Given the description of an element on the screen output the (x, y) to click on. 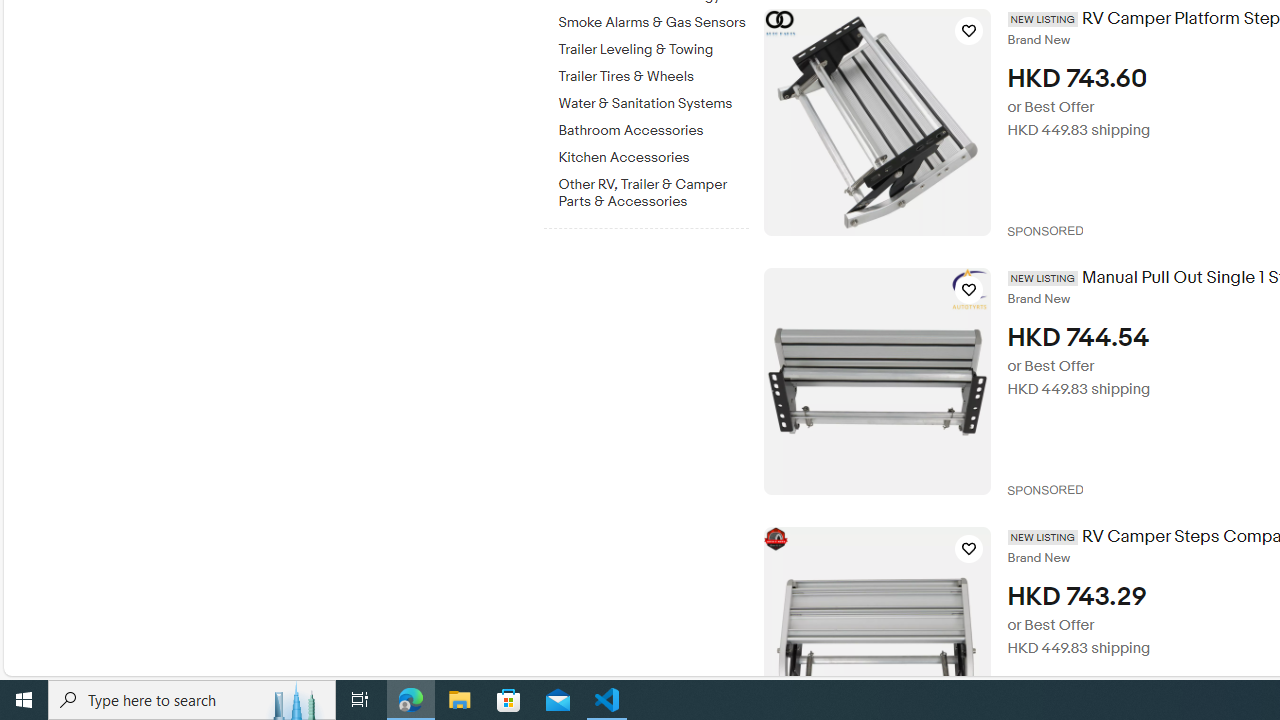
Water & Sanitation Systems (653, 104)
Kitchen Accessories (653, 154)
